Given the description of an element on the screen output the (x, y) to click on. 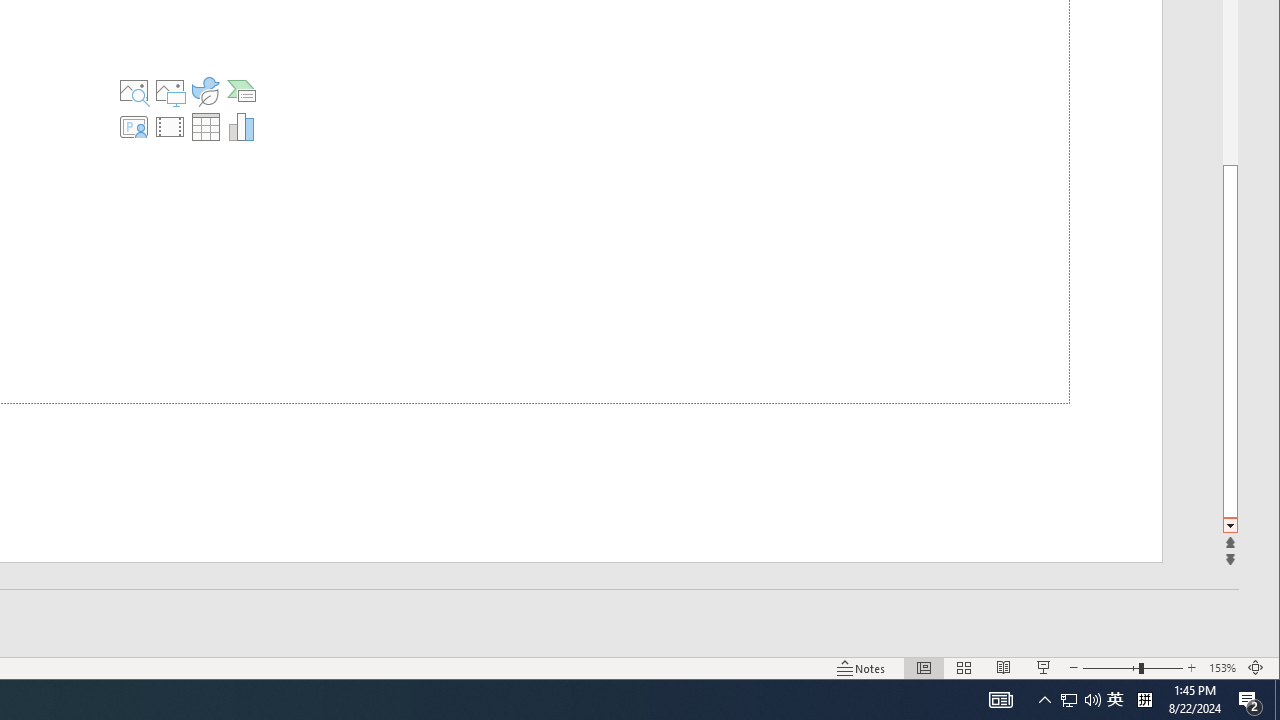
Zoom 153% (1222, 668)
Insert Table (205, 126)
Insert an Icon (205, 90)
Insert a SmartArt Graphic (242, 90)
Insert Cameo (133, 126)
